Given the description of an element on the screen output the (x, y) to click on. 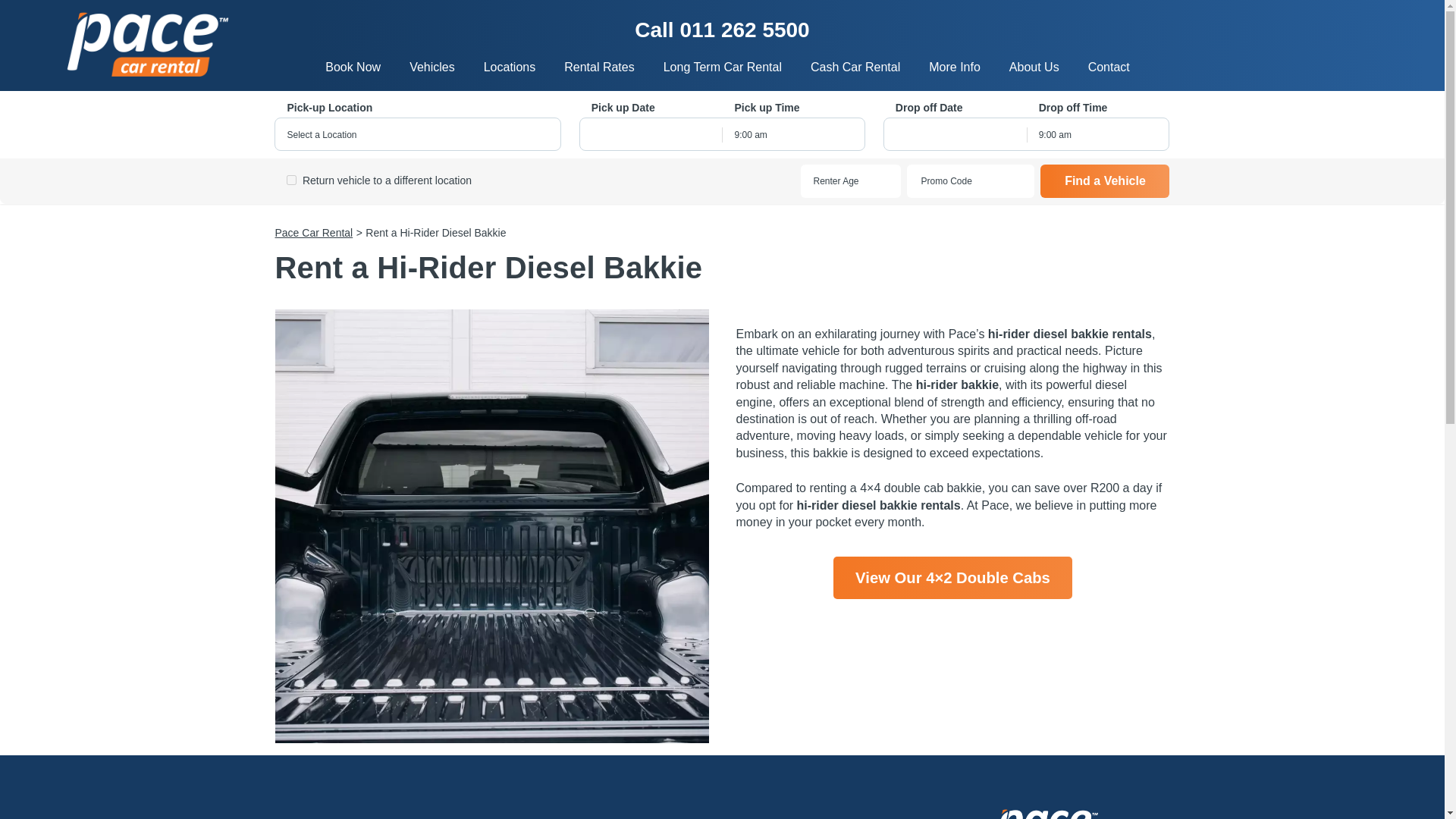
Select a Location (417, 134)
Vehicles (432, 66)
Locations (509, 66)
Find a Vehicle (1105, 181)
Book Now (352, 66)
on (291, 180)
Rental Rates (598, 66)
9:00 am (793, 134)
Long Term Car Rental (721, 66)
Cash Car Rental (855, 66)
